Given the description of an element on the screen output the (x, y) to click on. 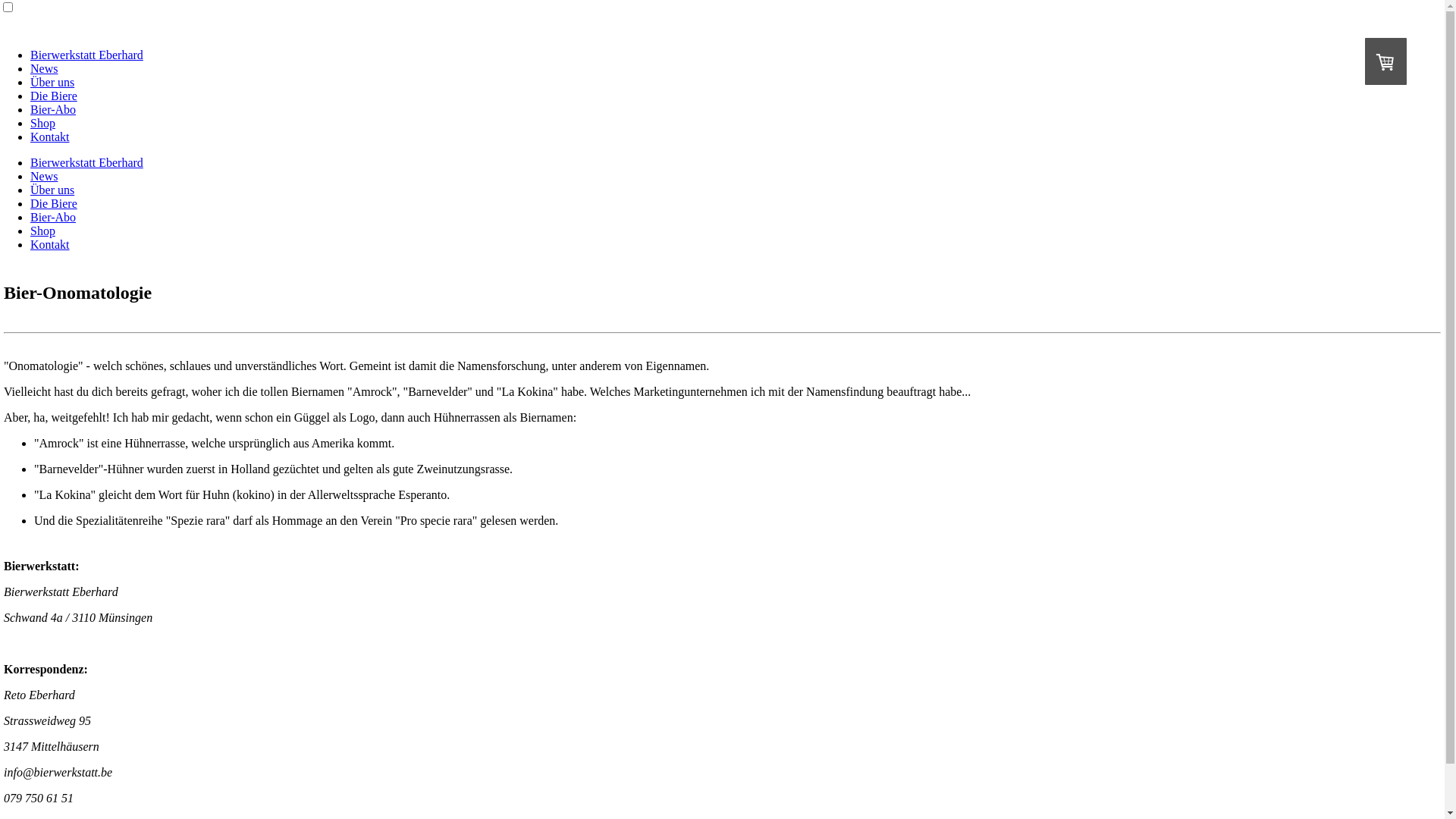
Die Biere Element type: text (53, 95)
Kontakt Element type: text (49, 136)
Bier-Abo Element type: text (52, 109)
Shop Element type: text (42, 230)
Bierwerkstatt Eberhard Element type: text (86, 162)
Bier-Abo Element type: text (52, 216)
News Element type: text (43, 175)
Kontakt Element type: text (49, 244)
Die Biere Element type: text (53, 203)
Bierwerkstatt Eberhard Element type: text (86, 54)
Shop Element type: text (42, 122)
News Element type: text (43, 68)
